Given the description of an element on the screen output the (x, y) to click on. 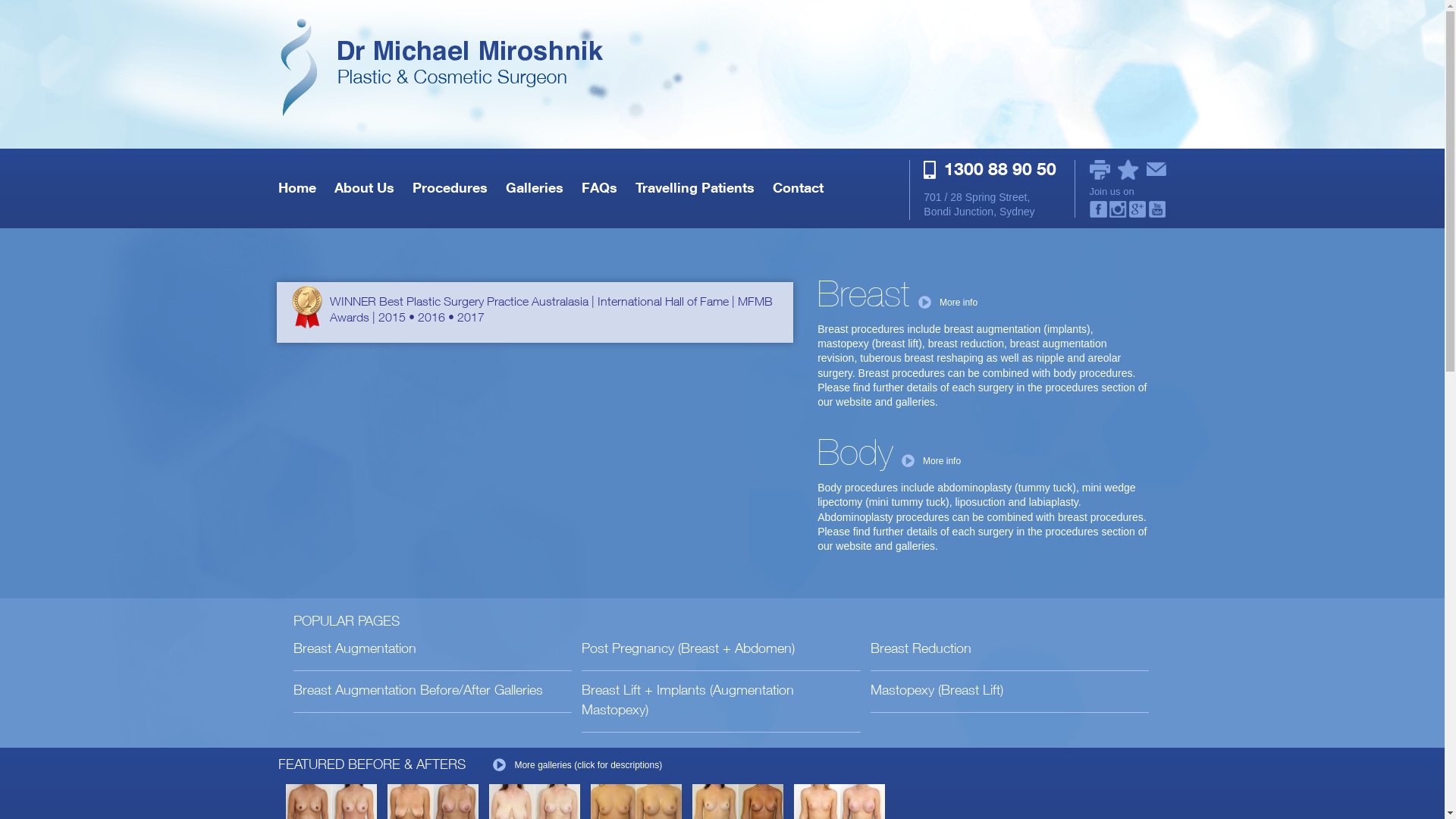
google plus Element type: text (1137, 208)
Breast Reduction Element type: text (920, 647)
Procedures Element type: text (449, 186)
Post Pregnancy (Breast + Abdomen) Element type: text (687, 647)
youtube Element type: text (1157, 208)
More info Element type: text (947, 302)
Contact Element type: text (797, 186)
Mastopexy (Breast Lift) Element type: text (936, 689)
More info Element type: text (930, 461)
instagram Element type: text (1117, 208)
Breast Augmentation Element type: text (354, 647)
email Element type: text (1156, 168)
Breast Augmentation Before/After Galleries Element type: text (417, 689)
More galleries (click for descriptions) Element type: text (577, 765)
About Us Element type: text (364, 186)
facebook Element type: text (1098, 208)
Travelling Patients Element type: text (694, 186)
Dr Michael Miroshnik Element type: hover (328, 289)
1300 88 90 50 Element type: text (996, 175)
Galleries Element type: text (534, 186)
FAQs Element type: text (599, 186)
Breast Lift + Implants (Augmentation Mastopexy) Element type: text (687, 699)
print Element type: text (1099, 169)
Bookmark This Page Element type: text (1128, 169)
Breast Element type: text (863, 292)
Home Element type: text (297, 186)
Body Element type: text (855, 451)
